Given the description of an element on the screen output the (x, y) to click on. 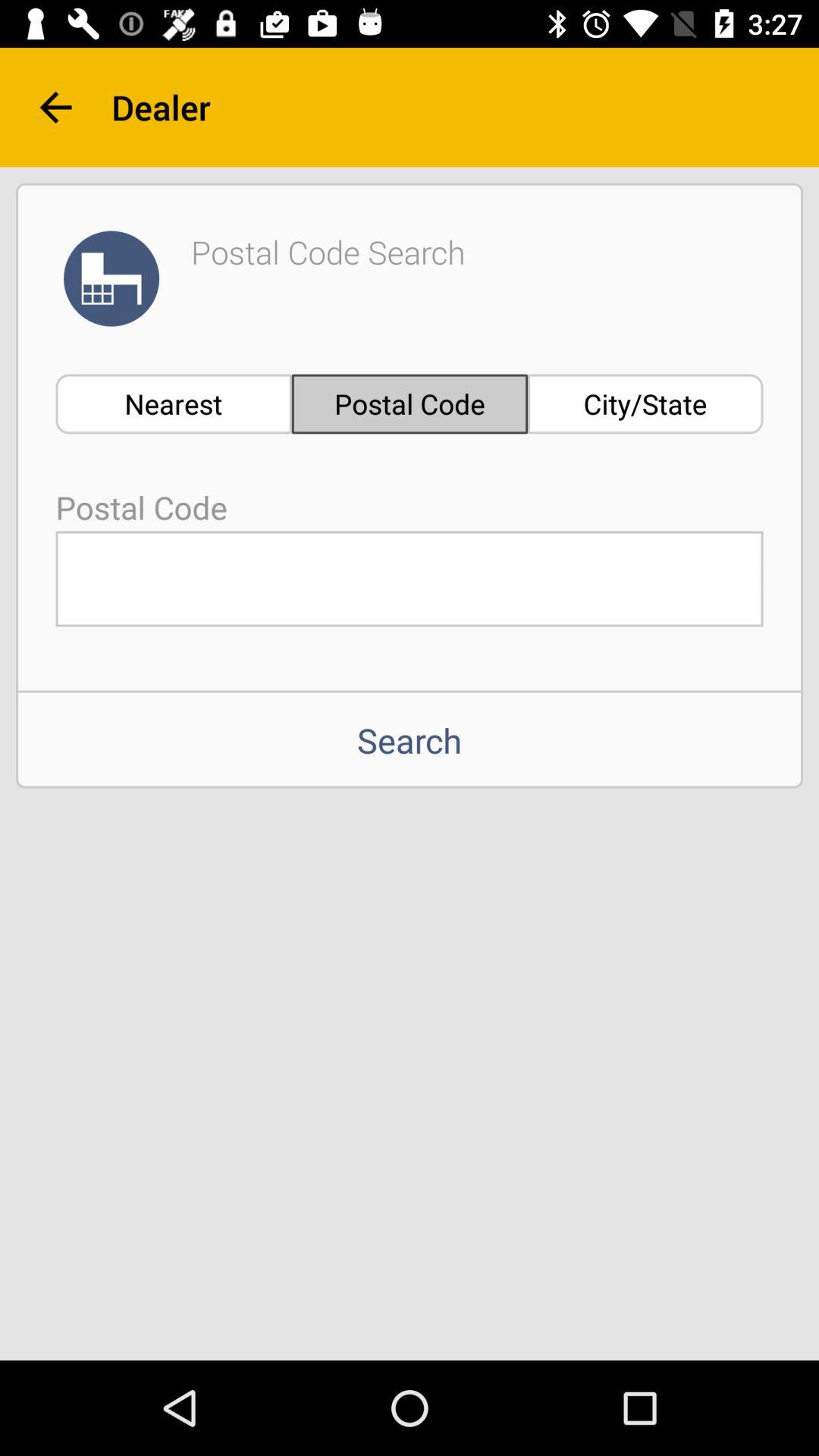
press item next to postal code icon (173, 403)
